Given the description of an element on the screen output the (x, y) to click on. 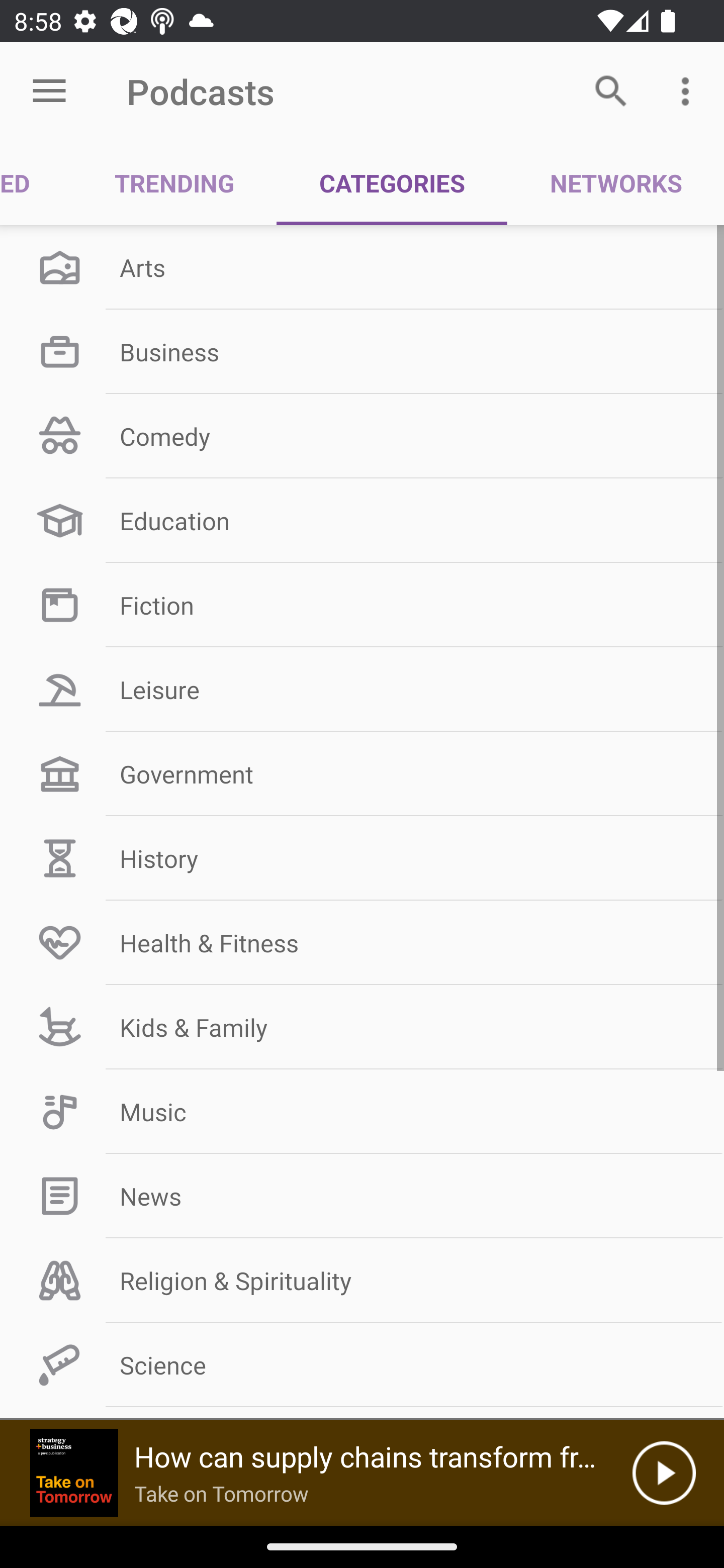
Open menu (49, 91)
Search (611, 90)
More options (688, 90)
TRENDING (174, 183)
CATEGORIES (391, 183)
NETWORKS (615, 183)
Arts (362, 266)
Business (362, 350)
Comedy (362, 435)
Education (362, 520)
Fiction (362, 604)
Leisure (362, 689)
Government (362, 774)
History (362, 858)
Health & Fitness (362, 942)
Kids & Family (362, 1026)
Music (362, 1111)
News (362, 1196)
Religion & Spirituality (362, 1280)
Science (362, 1364)
Play (663, 1472)
